Given the description of an element on the screen output the (x, y) to click on. 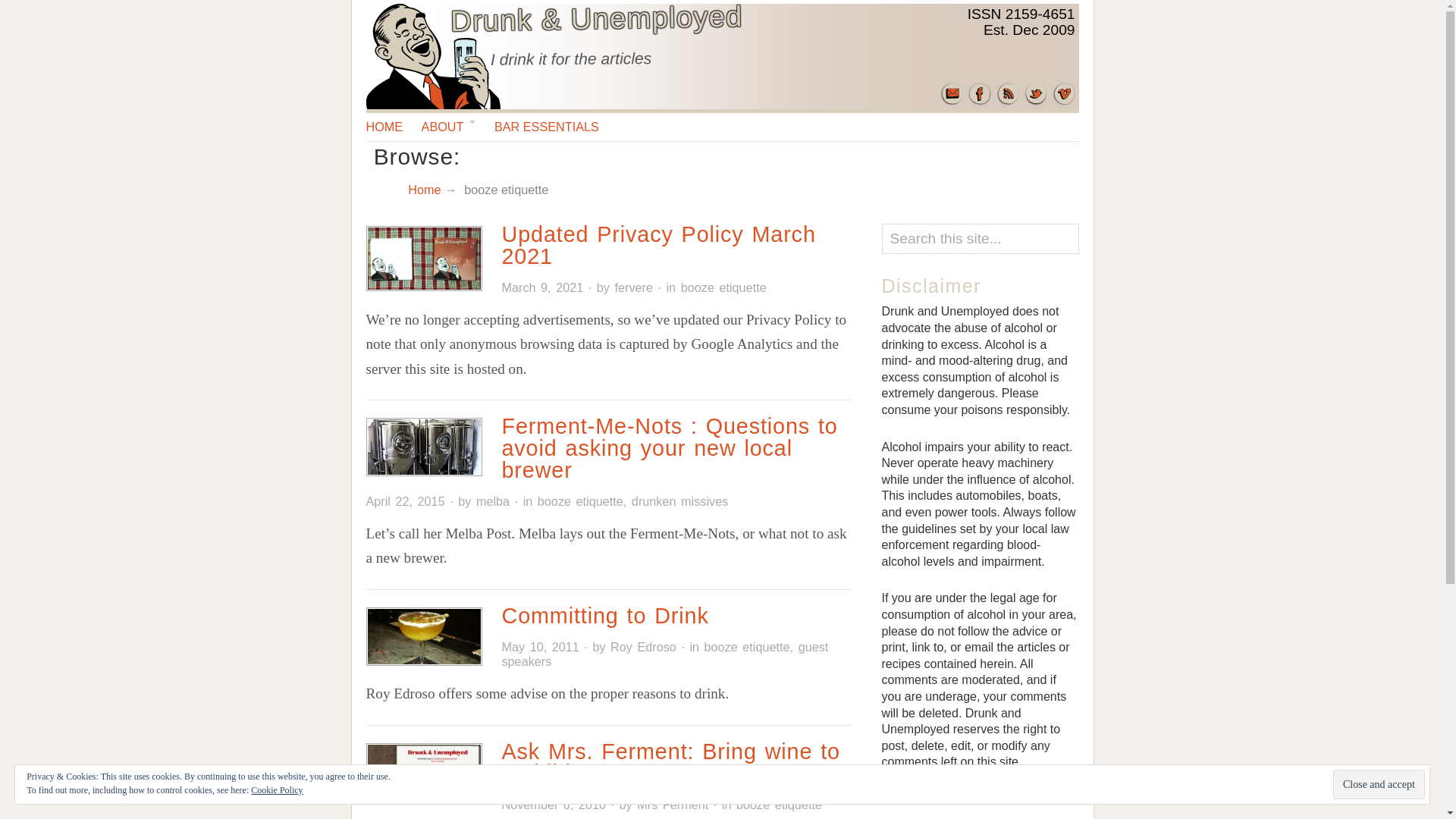
Mrs Ferment (672, 804)
May 10, 2011 (539, 646)
fervere (633, 287)
Close and accept (1379, 784)
Committing to Drink (603, 615)
Close and accept (1379, 784)
booze etiquette (580, 500)
booze etiquette (747, 646)
Posts by fervere (633, 287)
March 9, 2021 (541, 287)
